Given the description of an element on the screen output the (x, y) to click on. 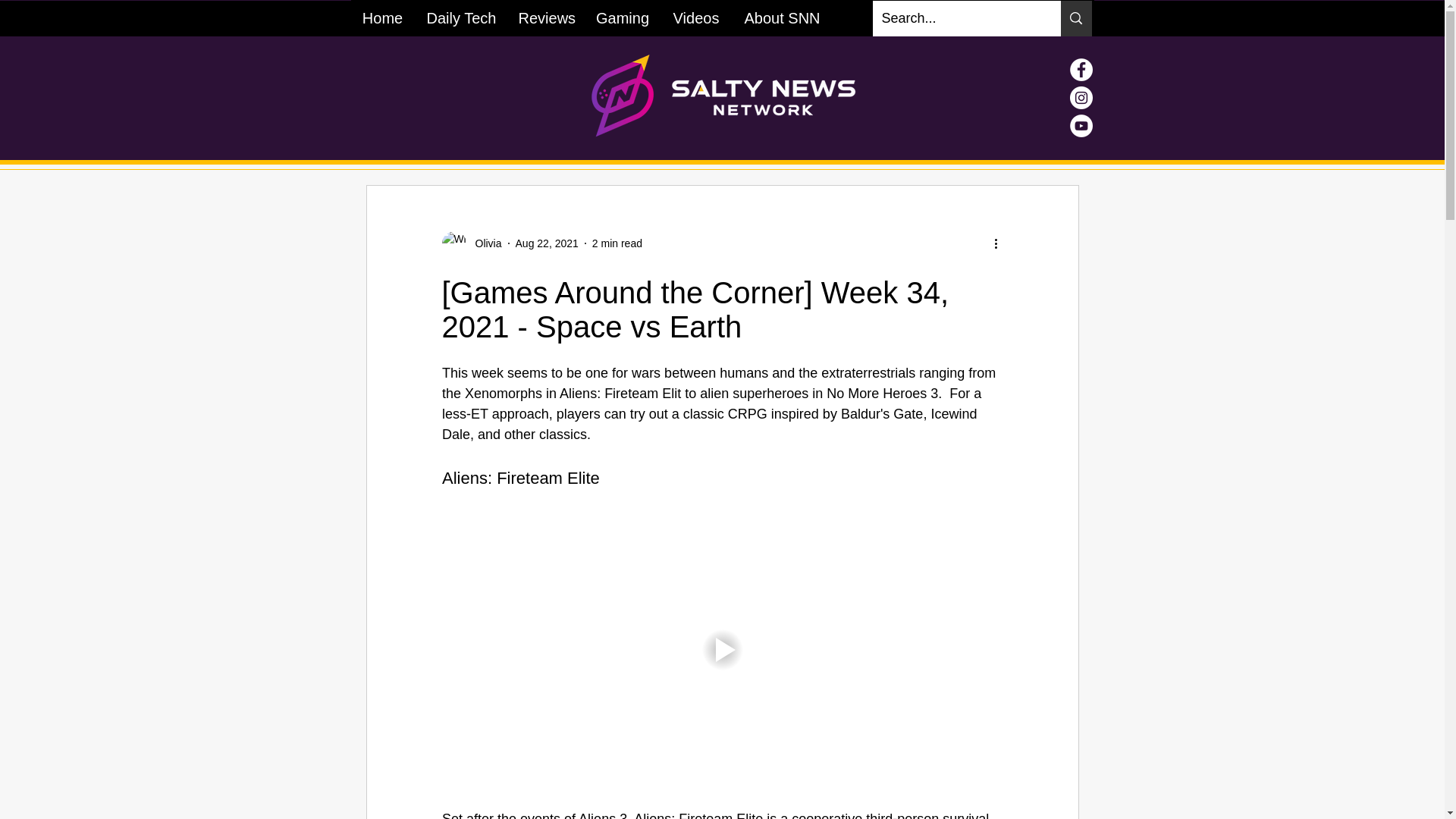
Olivia (482, 242)
Gaming (622, 18)
Olivia (470, 242)
Reviews (544, 18)
Aug 22, 2021 (546, 242)
2 min read (617, 242)
Videos (695, 18)
Daily Tech (459, 18)
Home (381, 18)
About SNN (781, 18)
